Given the description of an element on the screen output the (x, y) to click on. 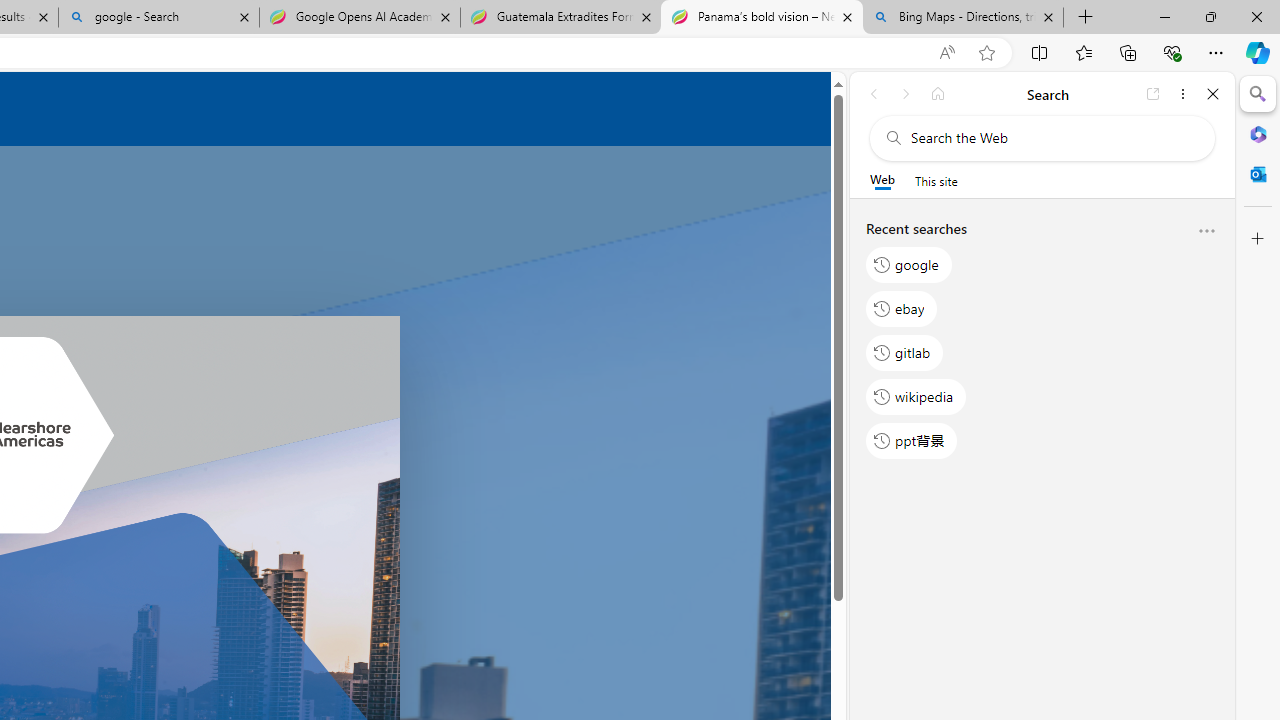
Web scope (882, 180)
Minimize (1164, 16)
Outlook (1258, 174)
Read aloud this page (Ctrl+Shift+U) (946, 53)
wikipedia (916, 396)
Close tab (1048, 16)
Google Opens AI Academy for Startups - Nearshore Americas (359, 17)
